Given the description of an element on the screen output the (x, y) to click on. 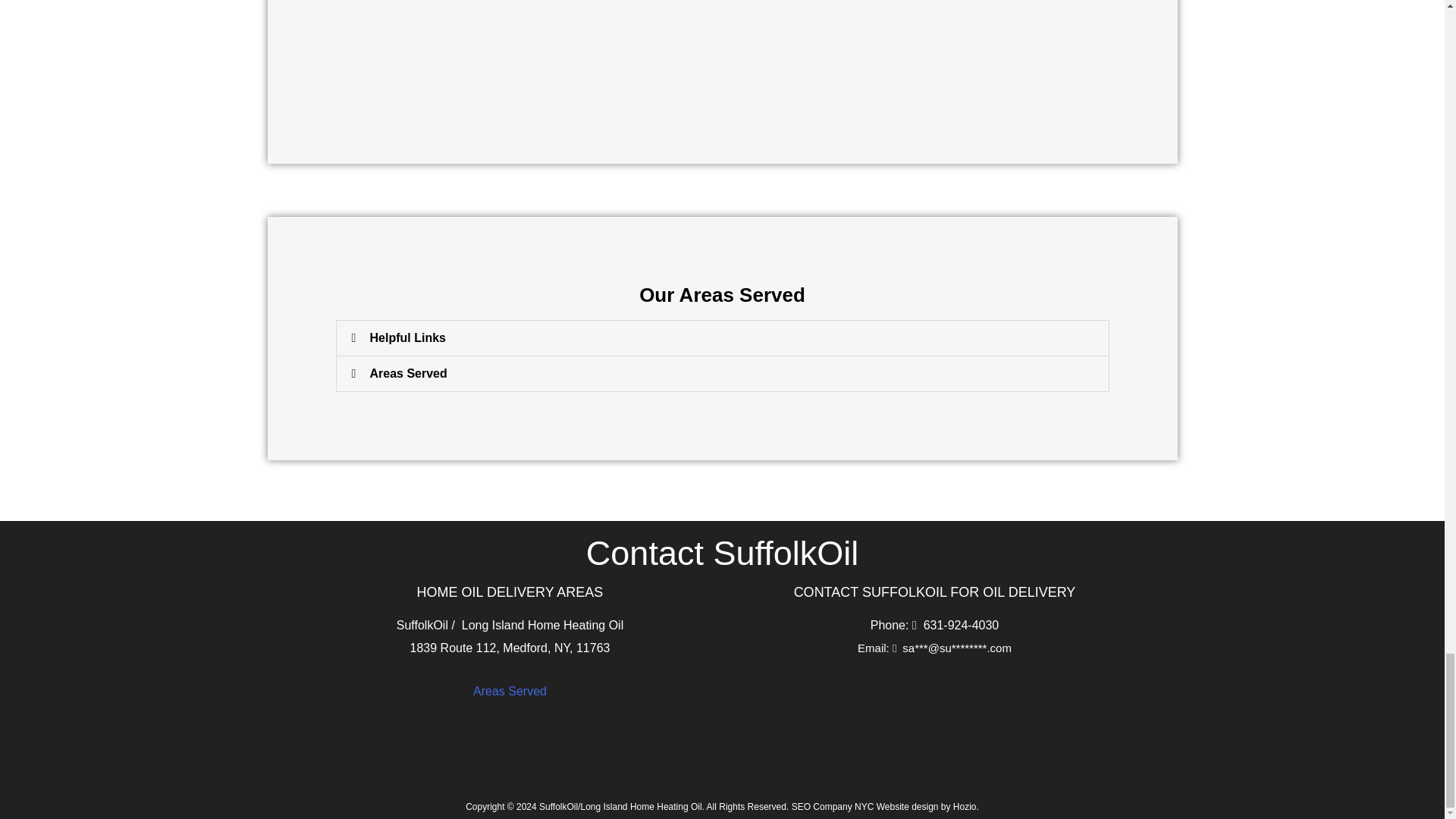
Areas Served (407, 373)
Helpful Links (407, 337)
